Given the description of an element on the screen output the (x, y) to click on. 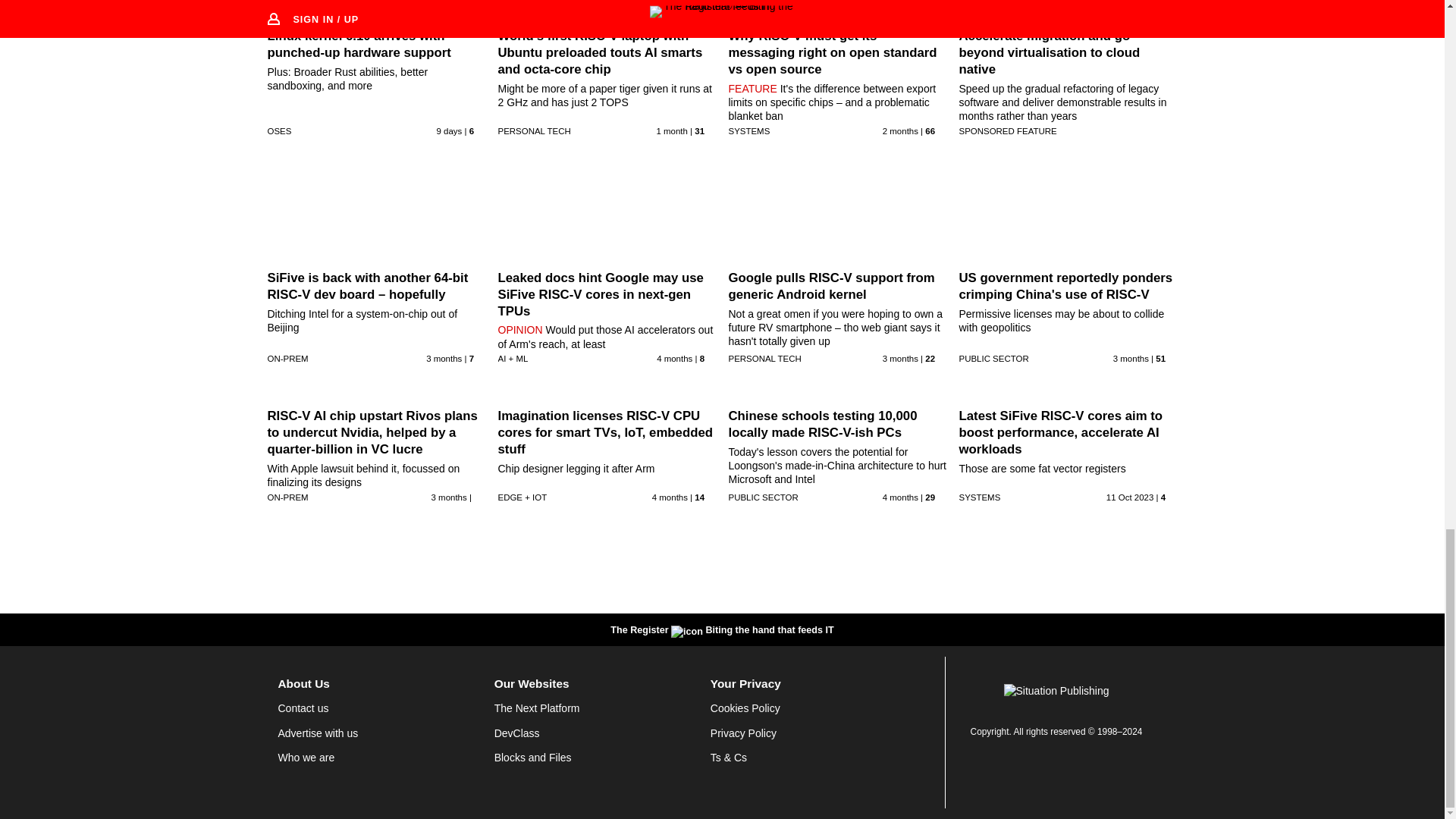
24 Apr 2024 2:16 (1130, 358)
15 Jul 2024 16:49 (449, 130)
13 Mar 2024 22:29 (674, 358)
1 May 2024 17:36 (900, 358)
9 Apr 2024 5:0 (443, 358)
13 Jun 2024 19:3 (671, 130)
17 Apr 2024 0:46 (448, 497)
29 May 2024 13:30 (900, 130)
8 Apr 2024 19:30 (669, 497)
